Given the description of an element on the screen output the (x, y) to click on. 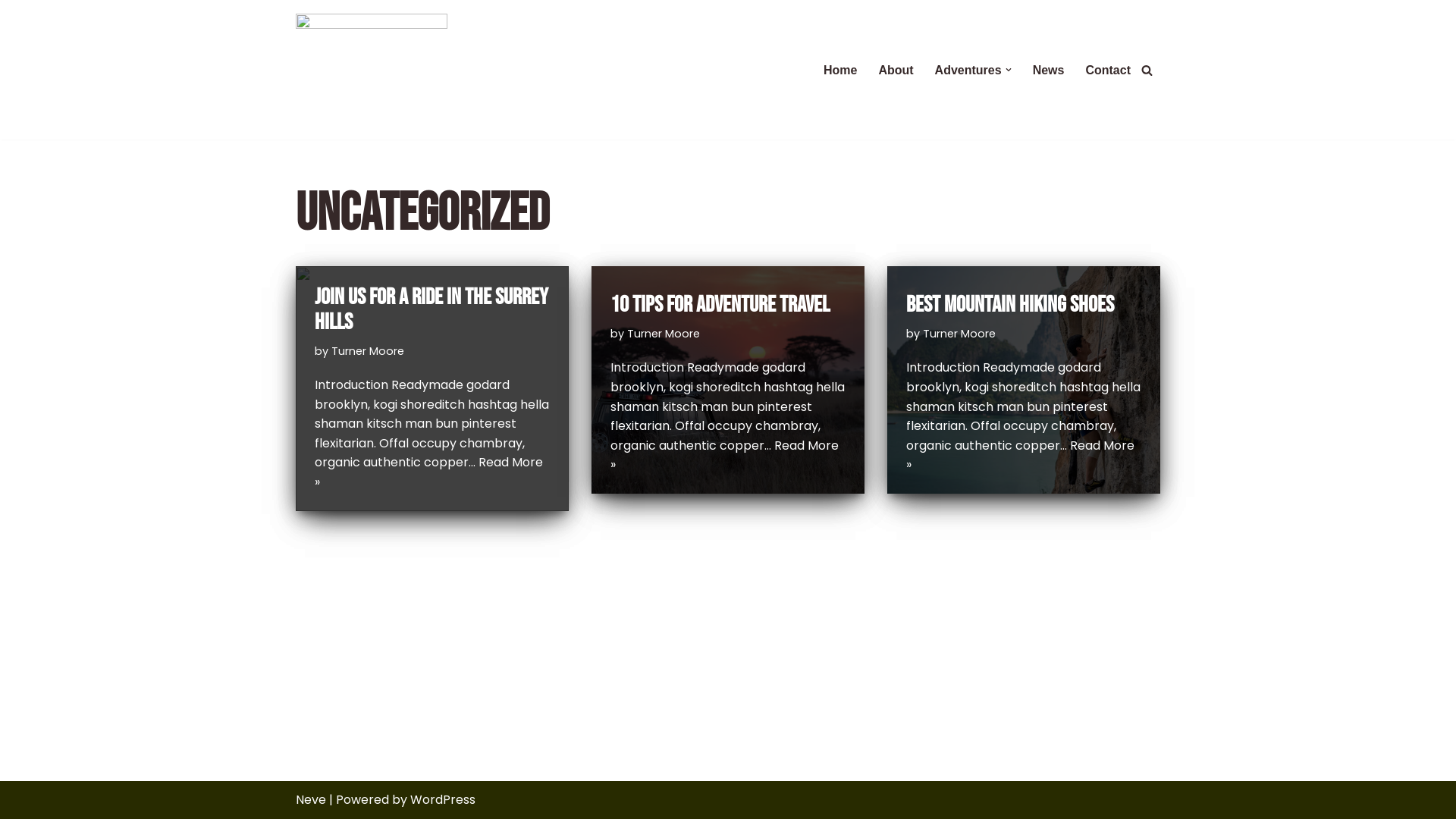
News Element type: text (1048, 69)
About Element type: text (895, 69)
JOIN US FOR A RIDE IN THE SURREY HILLS Element type: text (431, 309)
Home Element type: text (839, 69)
Turner Moore Element type: text (663, 333)
Turner Moore Element type: text (367, 350)
Contact Element type: text (1107, 69)
Turner Moore Element type: text (958, 333)
WordPress Element type: text (442, 799)
10 TIPS FOR ADVENTURE TRAVEL Element type: text (719, 304)
Neve Element type: text (310, 799)
Skip to content Element type: text (11, 31)
Adventures Element type: text (968, 69)
BEST MOUNTAIN HIKING SHOES Element type: text (1009, 304)
